Given the description of an element on the screen output the (x, y) to click on. 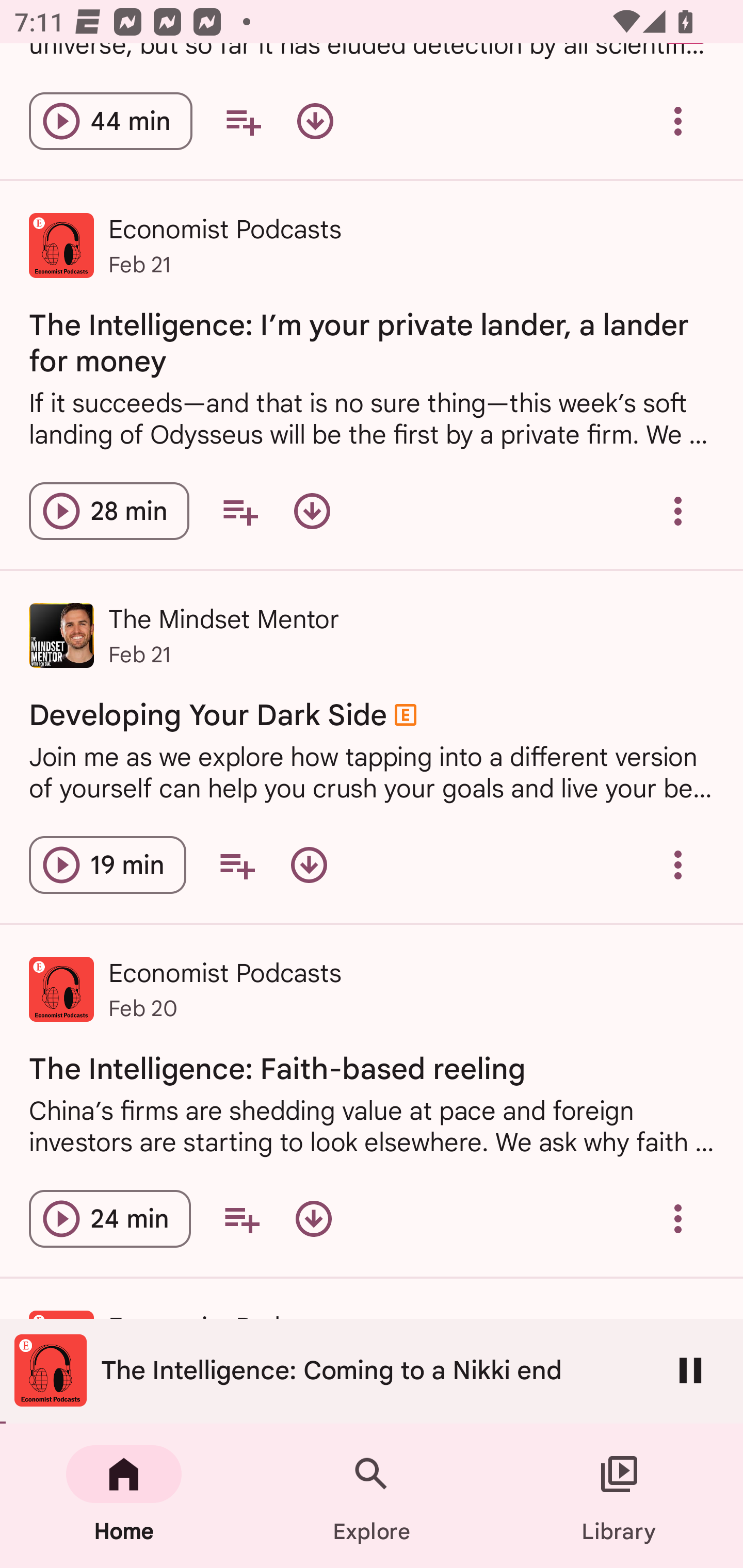
Add to your queue (242, 121)
Download episode (315, 121)
Overflow menu (677, 121)
Add to your queue (239, 511)
Download episode (312, 511)
Overflow menu (677, 511)
Play episode Developing Your Dark Side 19 min (107, 864)
Add to your queue (236, 864)
Download episode (308, 864)
Overflow menu (677, 864)
Add to your queue (241, 1219)
Download episode (313, 1219)
Overflow menu (677, 1219)
Pause (690, 1370)
Explore (371, 1495)
Library (619, 1495)
